Given the description of an element on the screen output the (x, y) to click on. 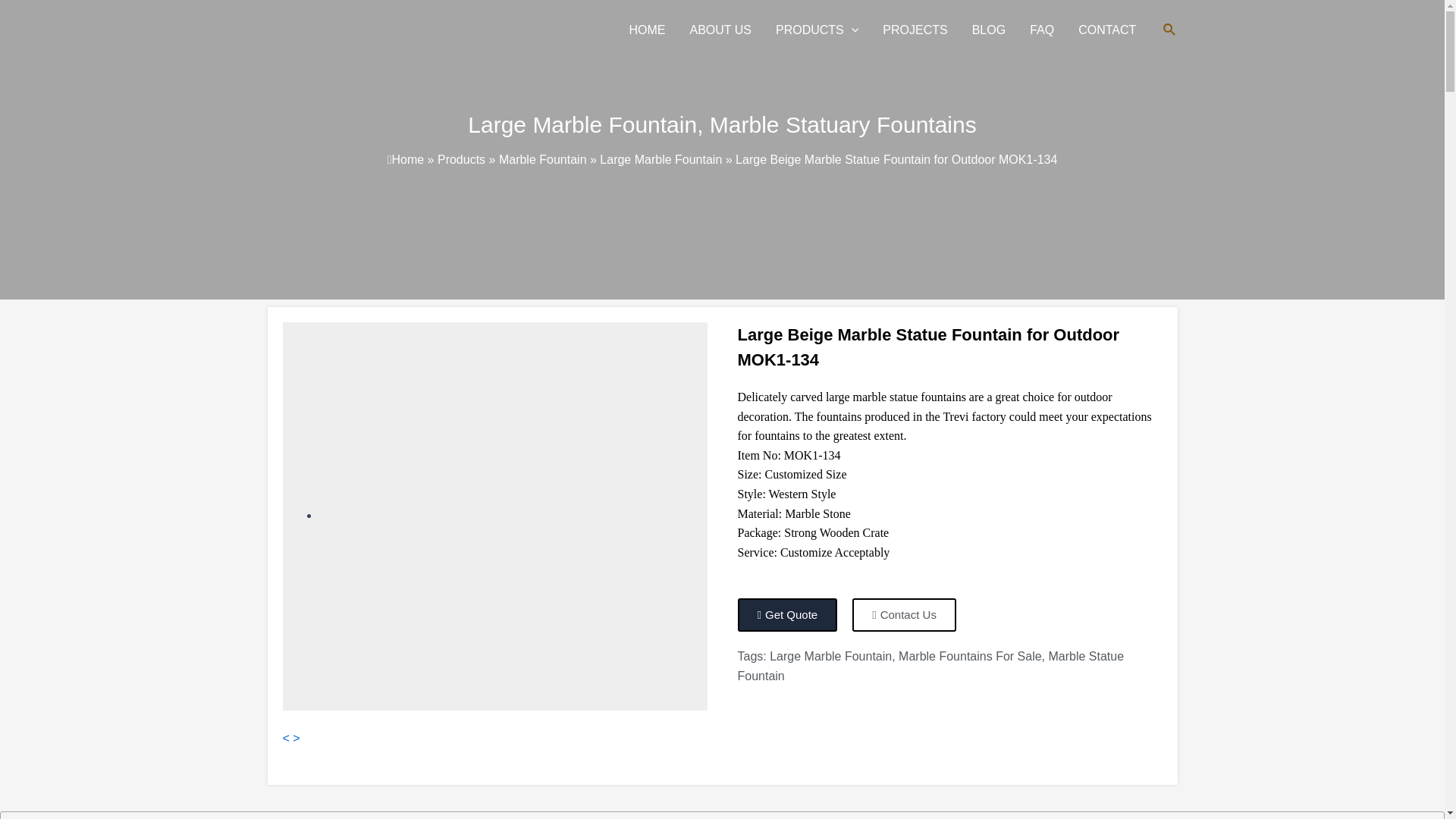
ABOUT US (719, 30)
HOME (646, 30)
PRODUCTS (816, 30)
